Given the description of an element on the screen output the (x, y) to click on. 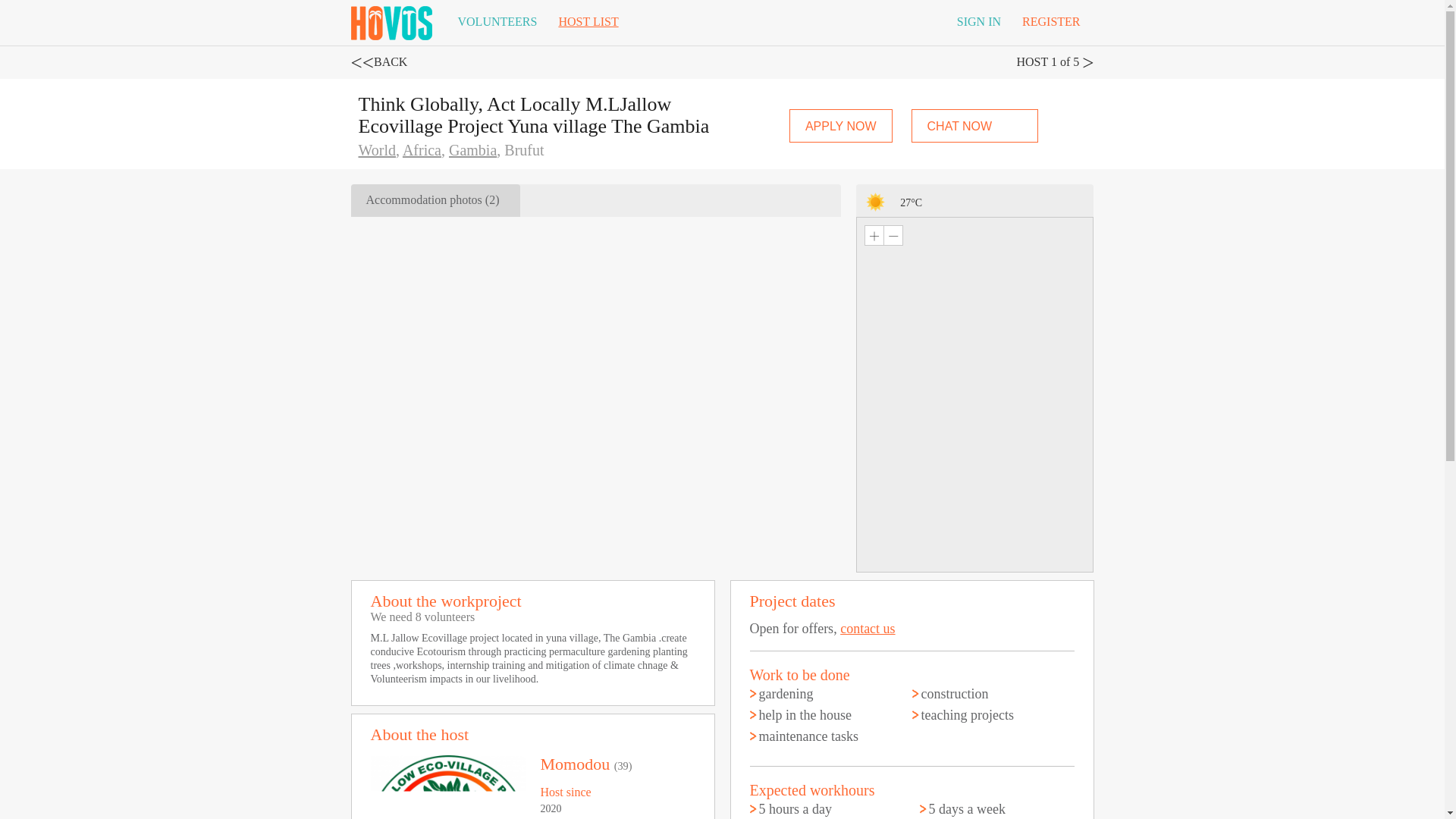
REGISTER (1050, 22)
HOST LIST (587, 22)
Gambia (472, 149)
APPLY NOW (840, 125)
World (377, 149)
SIGN IN (978, 22)
Africa (422, 149)
CHAT NOW (975, 125)
Hovos (390, 20)
VOLUNTEERS (497, 22)
